Given the description of an element on the screen output the (x, y) to click on. 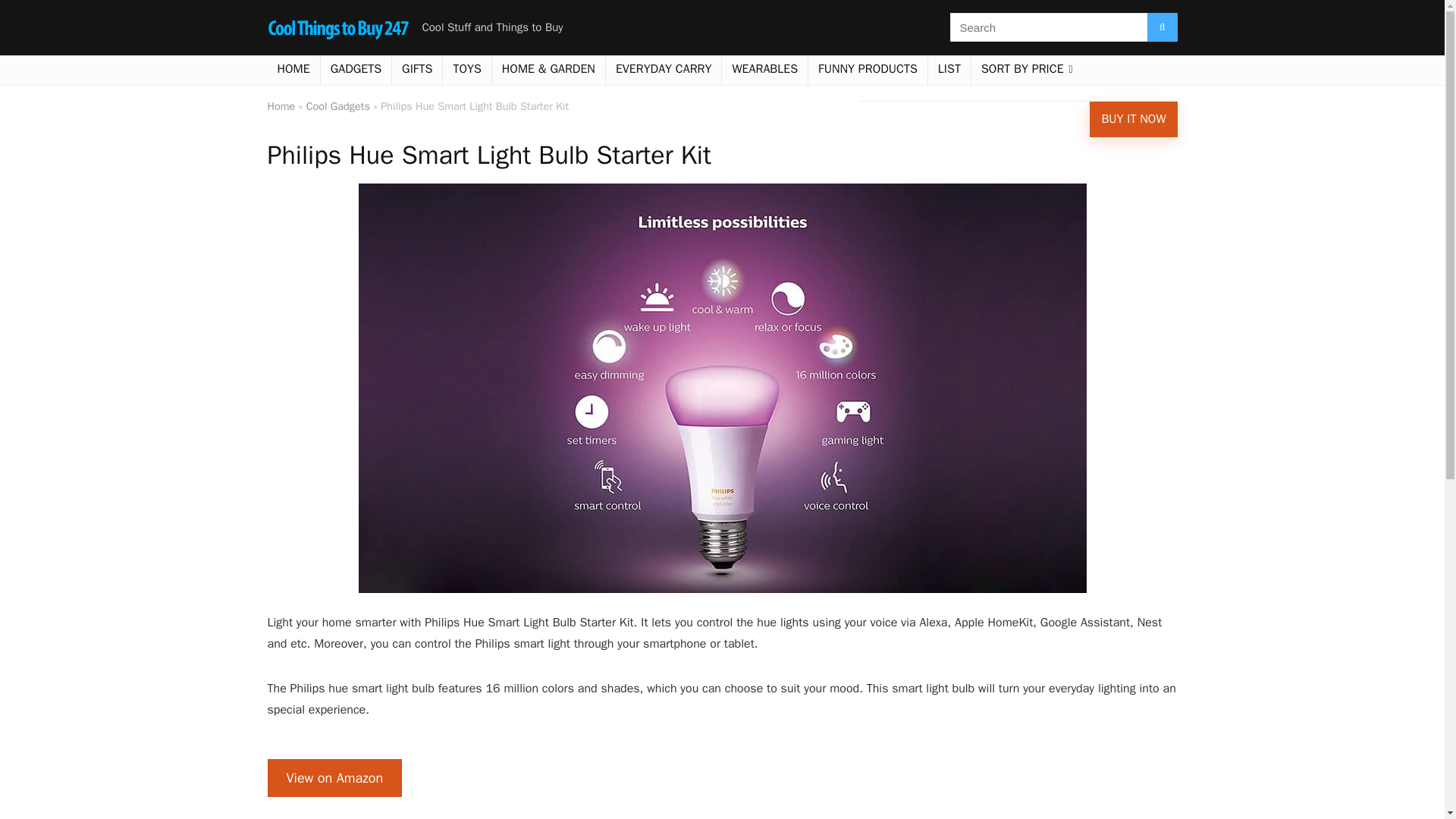
GIFTS (416, 70)
SORT BY PRICE (1027, 70)
EVERYDAY CARRY (663, 70)
Cool Gifts (416, 70)
Everyday Carry (663, 70)
Funny Products (867, 70)
WEARABLES (765, 70)
Home (292, 70)
TOYS (466, 70)
BUY IT NOW (1132, 119)
Home (280, 106)
HOME (292, 70)
Cool Gadgets (355, 70)
LIST (949, 70)
Cool Toys (466, 70)
